Given the description of an element on the screen output the (x, y) to click on. 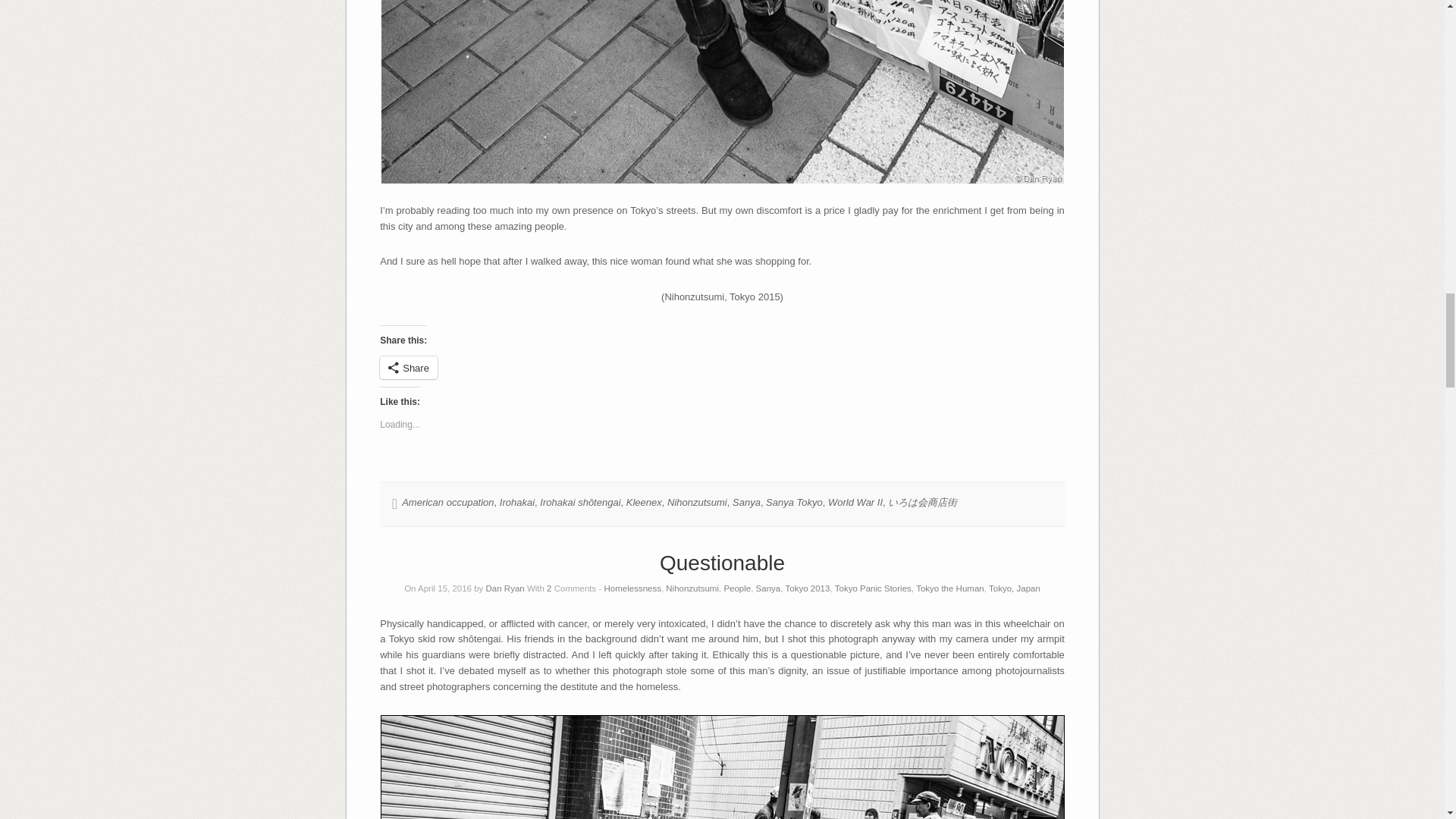
TokyoDay17 076-2 (721, 91)
Sanya Tokyo (793, 501)
American occupation (447, 501)
Share (409, 367)
Irohakai (516, 501)
Nihonzutsumi (696, 501)
Sanya (746, 501)
World War II (855, 501)
Kleenex (644, 501)
TokyoDay26raw 115-1 (722, 766)
